Given the description of an element on the screen output the (x, y) to click on. 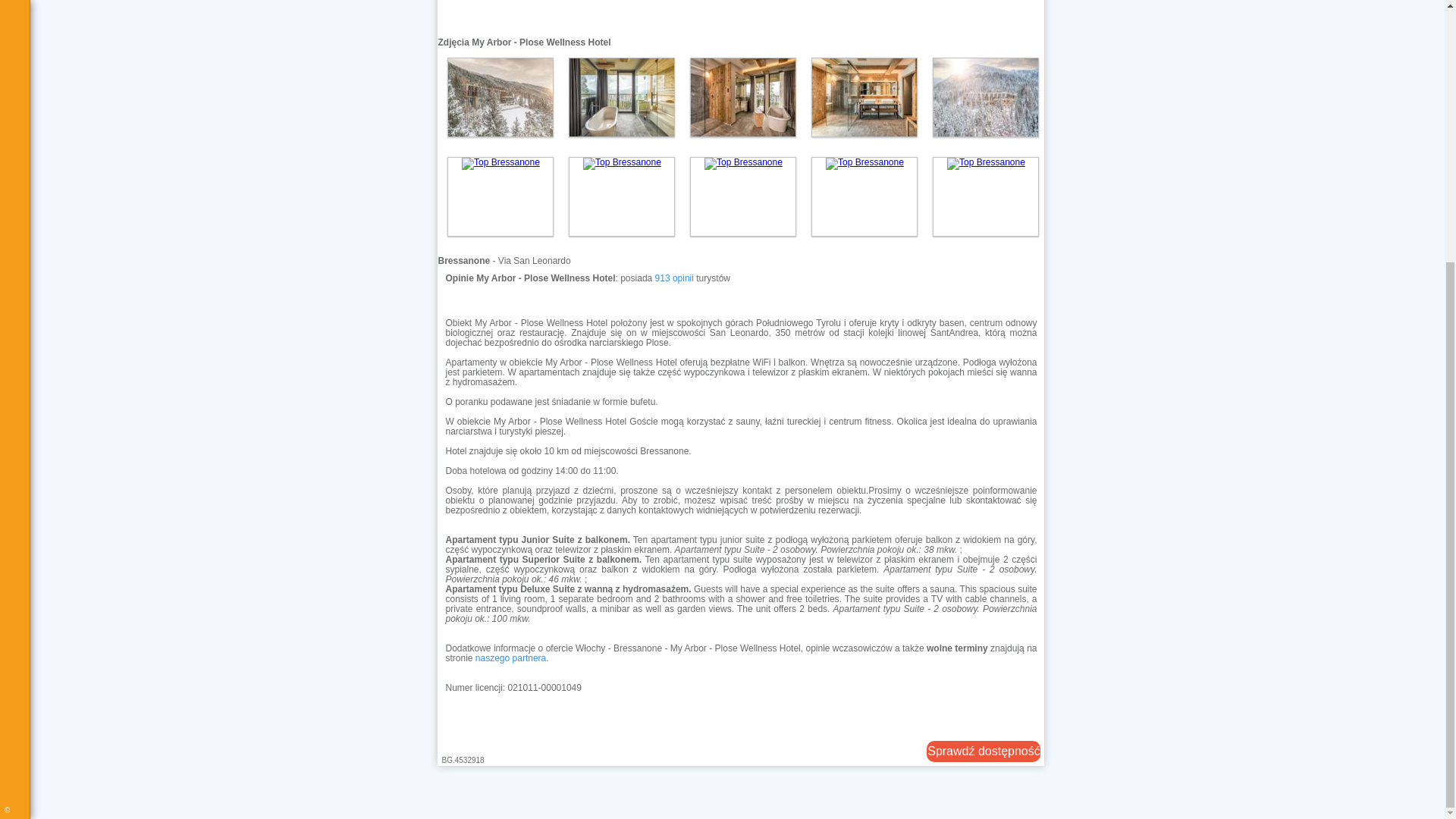
naszego partnera (511, 657)
Top Bressanone (500, 97)
Top Bressanone (621, 97)
913 opinii (674, 277)
